Given the description of an element on the screen output the (x, y) to click on. 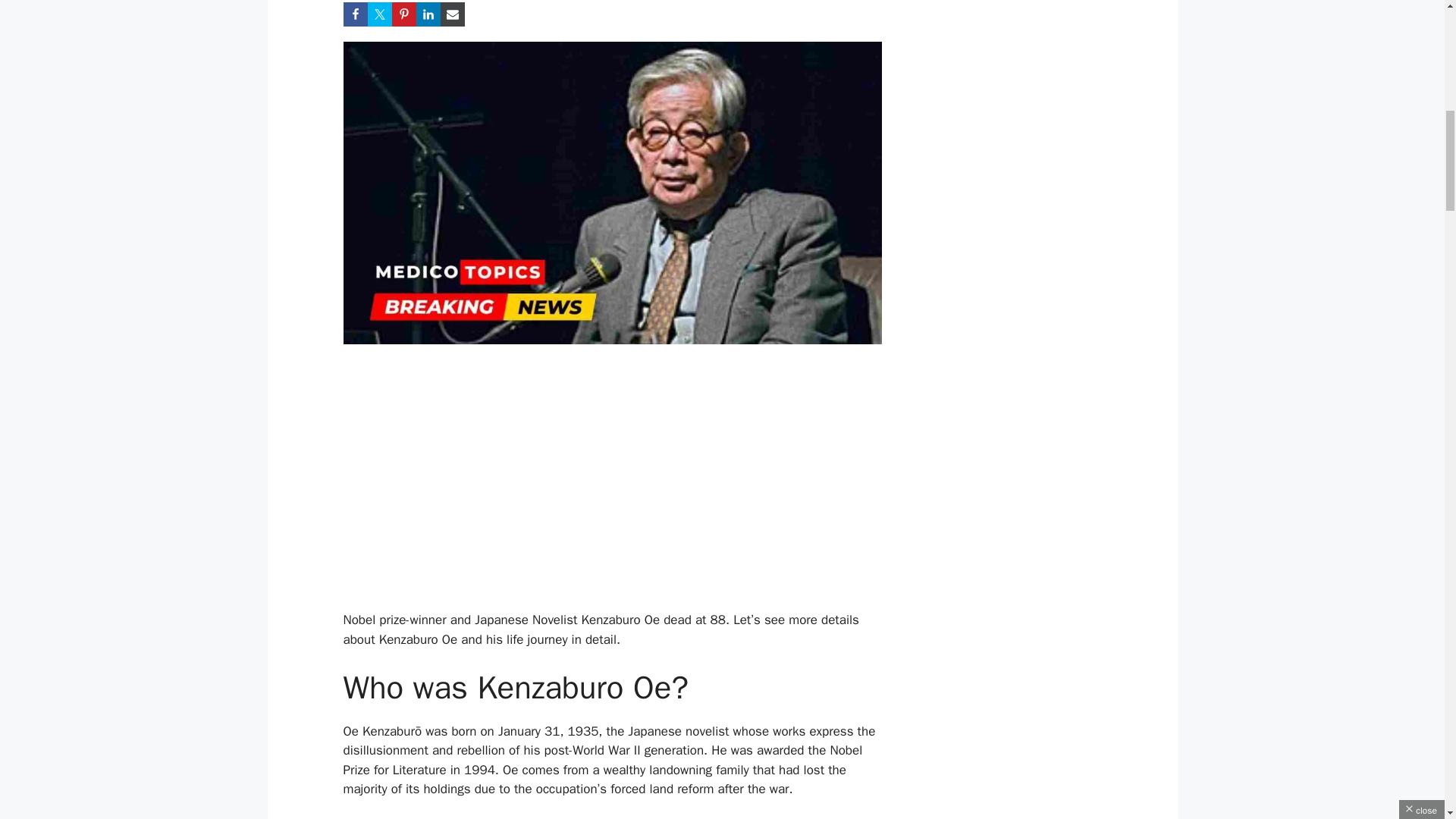
Share via Email (451, 14)
Share on Pinterest (402, 14)
Share on LinkedIn (426, 14)
Share on Twitter (378, 14)
Share on Facebook (354, 14)
